Given the description of an element on the screen output the (x, y) to click on. 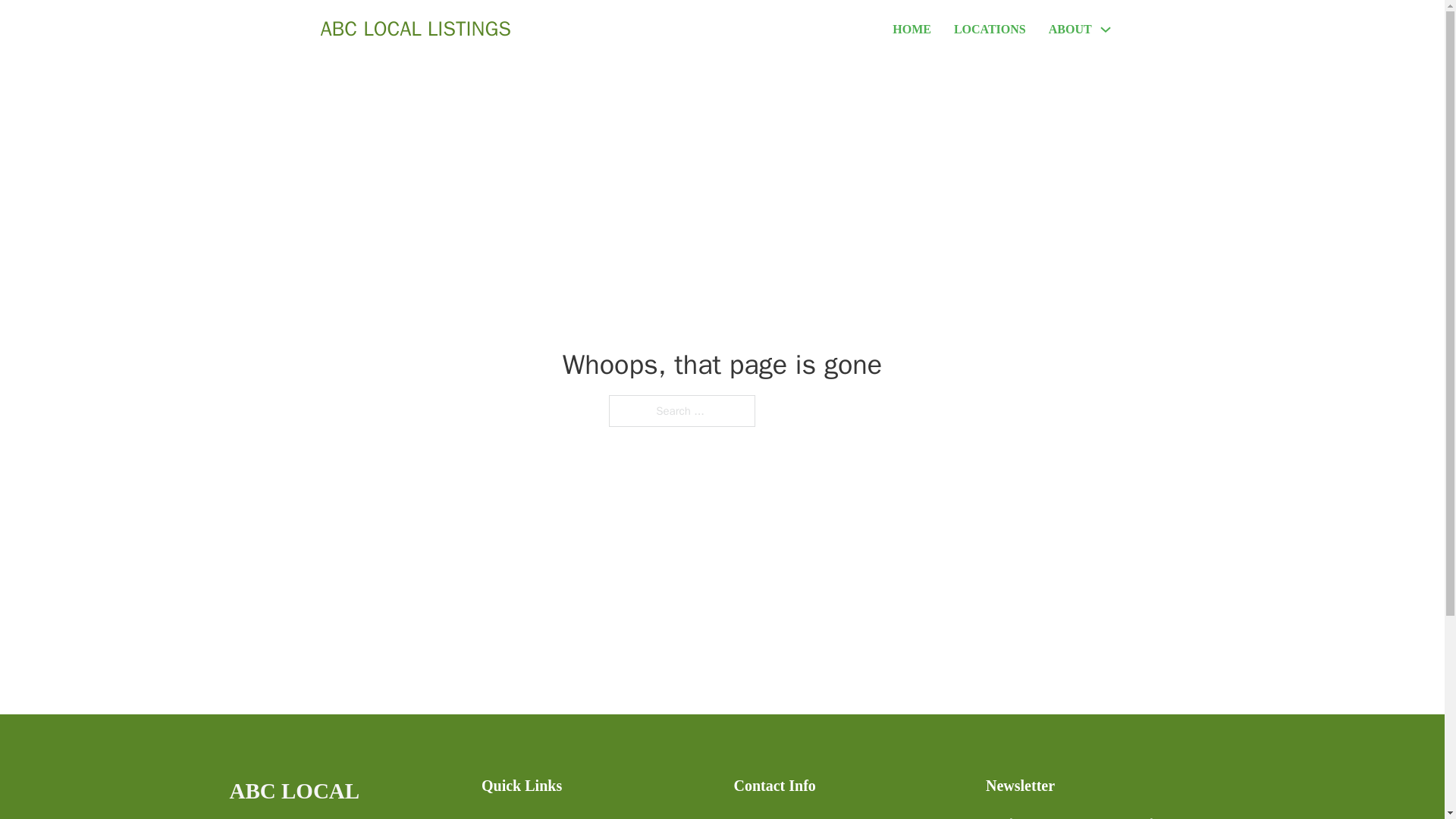
Home (496, 816)
HOME (911, 28)
ABC LOCAL LISTINGS (415, 28)
LOCATIONS (989, 28)
ABC LOCAL LISTINGS (343, 796)
